Given the description of an element on the screen output the (x, y) to click on. 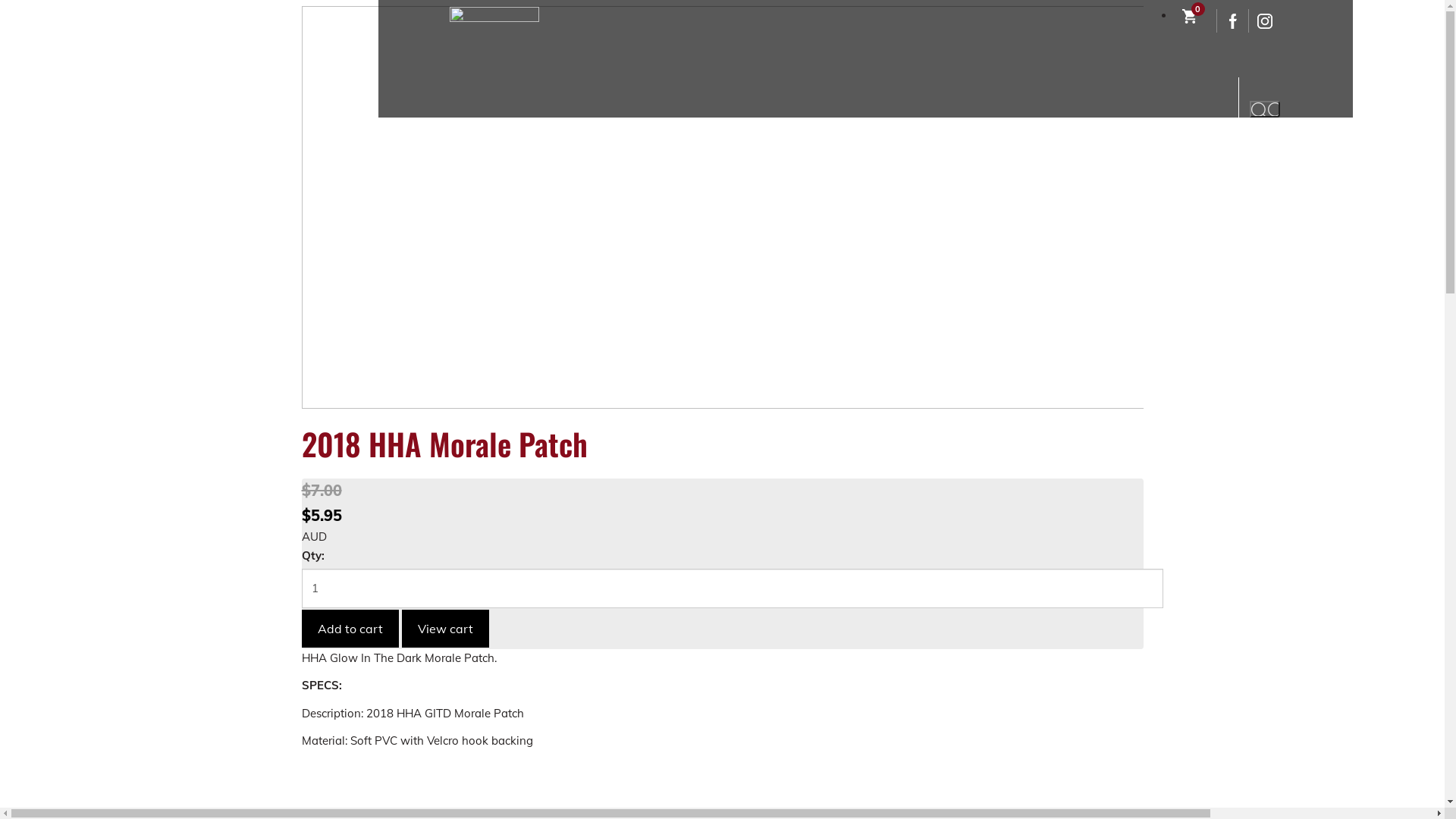
View cart Element type: text (445, 628)
Toggle navigation Element type: text (1230, 80)
Add to cart Element type: text (349, 628)
0 Element type: text (1193, 15)
